Given the description of an element on the screen output the (x, y) to click on. 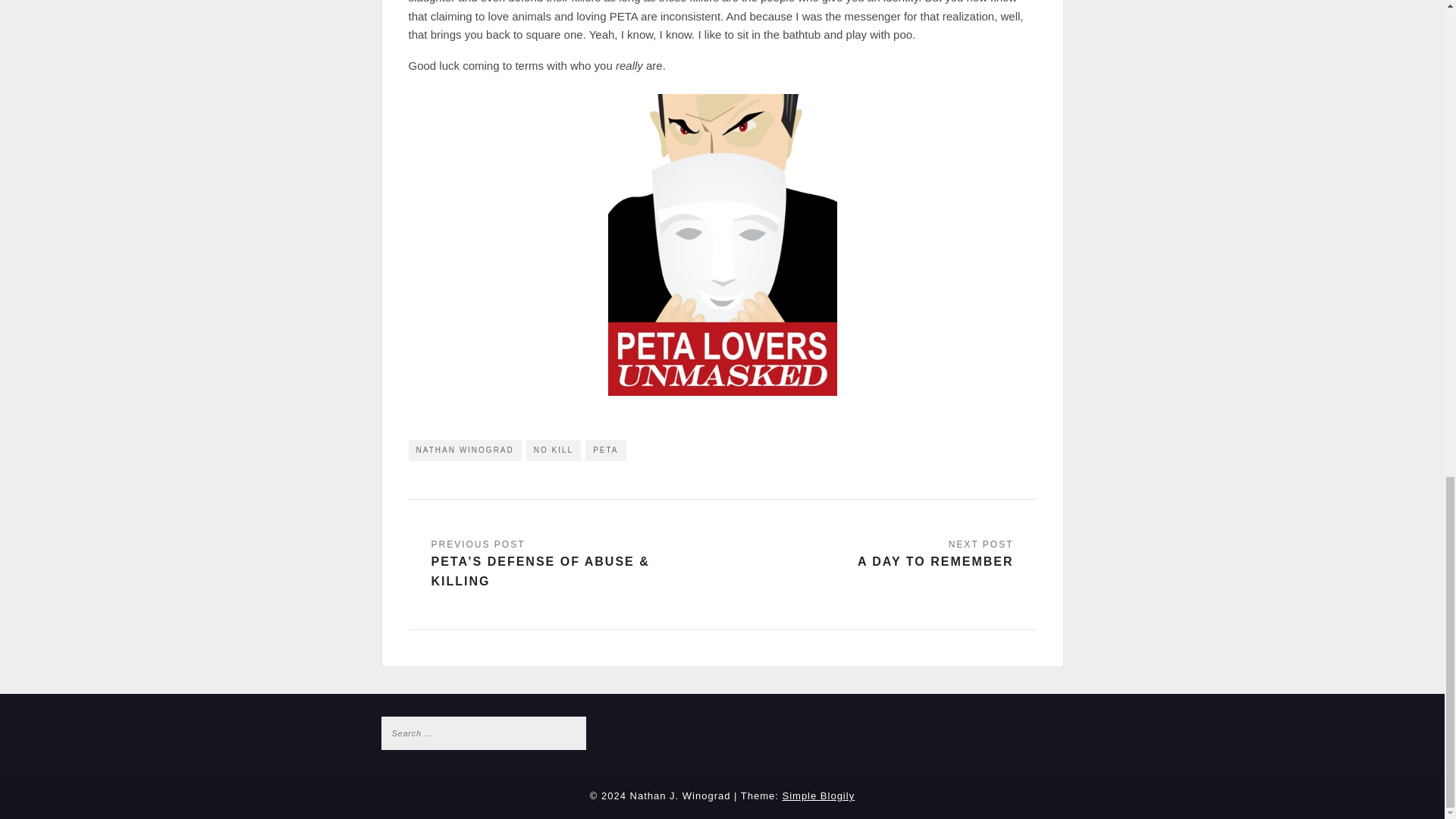
A DAY TO REMEMBER (935, 555)
NO KILL (552, 449)
PETA (605, 449)
Simple Blogily (819, 795)
NATHAN WINOGRAD (464, 449)
